Given the description of an element on the screen output the (x, y) to click on. 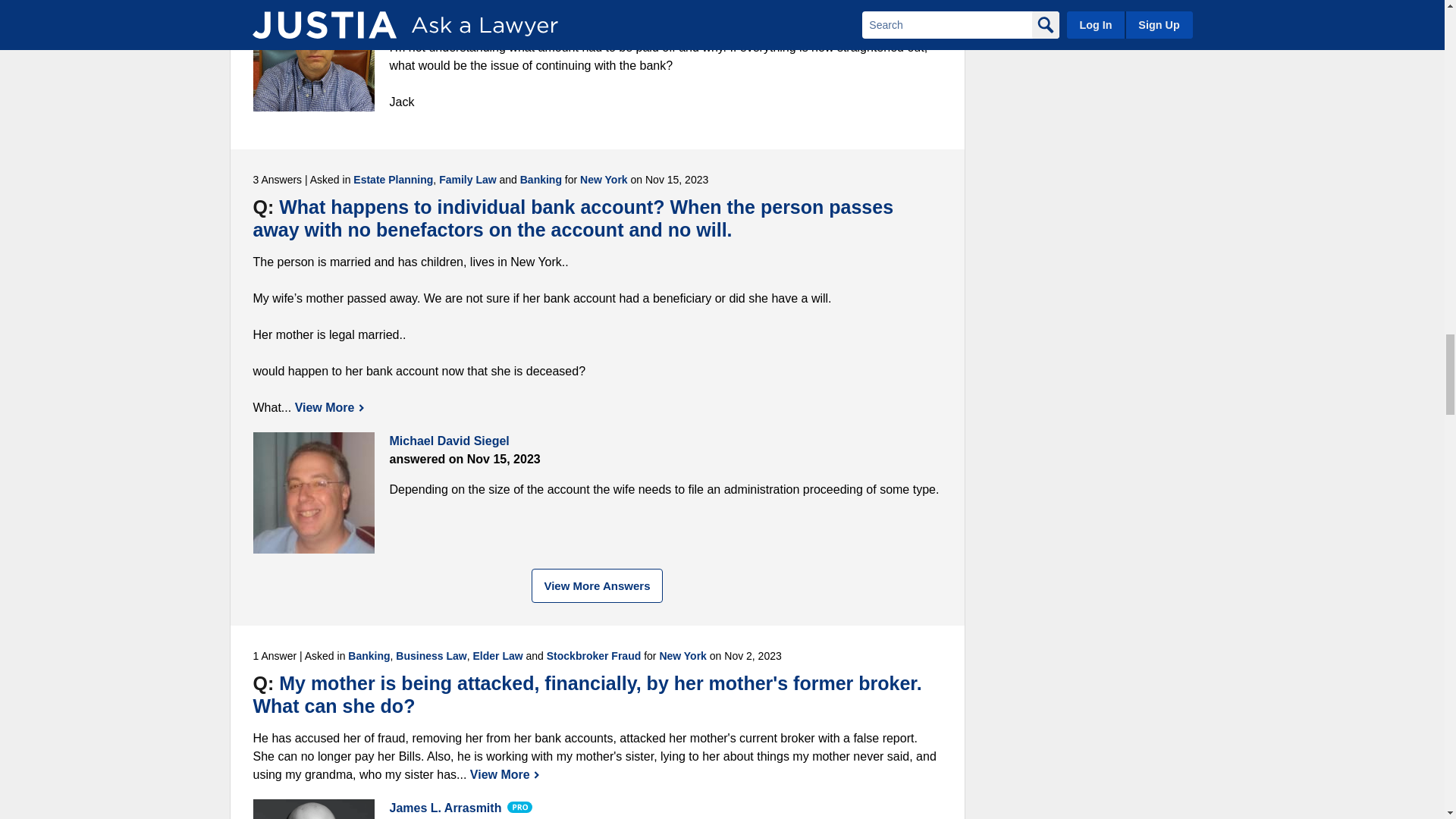
Michael David Siegel (313, 492)
Jack Mevorach (313, 55)
James L. Arrasmith (313, 809)
